Given the description of an element on the screen output the (x, y) to click on. 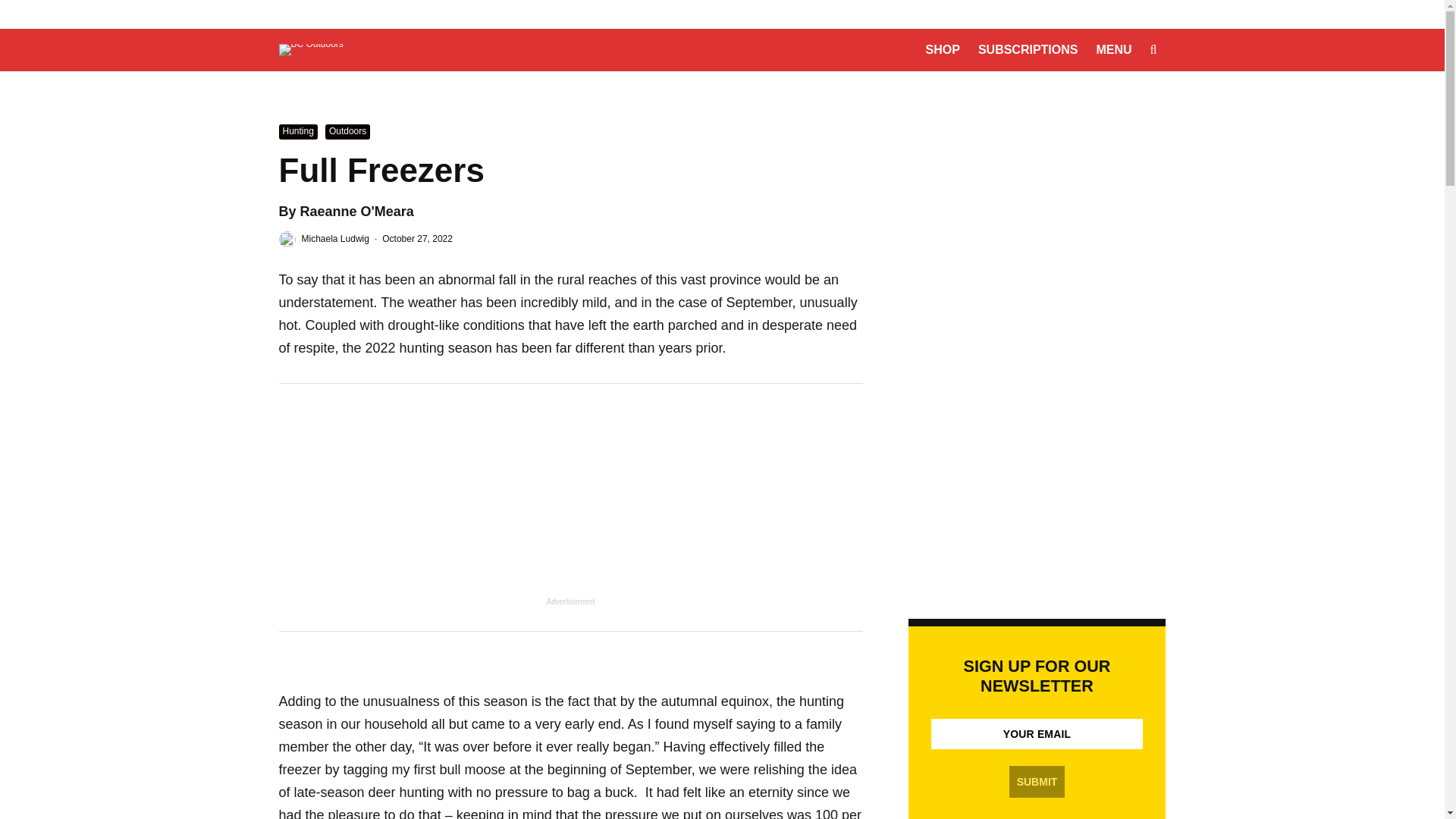
SHOP (943, 49)
Outdoors (346, 131)
SUBSCRIPTIONS (1028, 49)
Michaela Ludwig (335, 238)
Hunting (298, 131)
MENU (1113, 49)
